Given the description of an element on the screen output the (x, y) to click on. 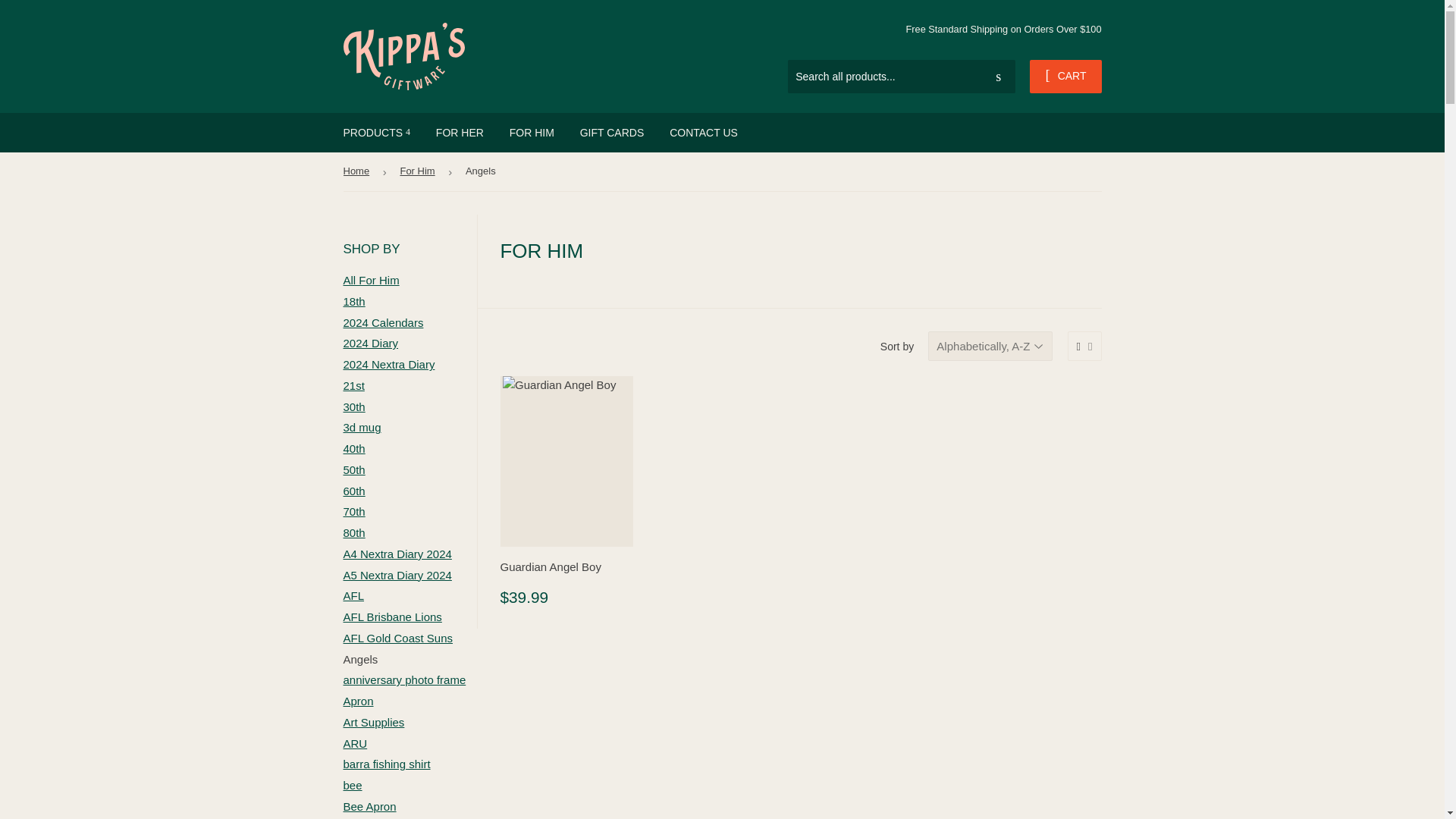
Show products matching tag 80th (353, 532)
Show products matching tag 30th (353, 406)
Show products matching tag 18th (353, 300)
Show products matching tag 60th (353, 490)
Show products matching tag A4 Nextra Diary 2024 (396, 553)
Show products matching tag 50th (353, 469)
Show products matching tag AFL Gold Coast Suns (397, 637)
CART (1064, 76)
Show products matching tag AFL (353, 594)
Show products matching tag A5 Nextra Diary 2024 (396, 574)
Show products matching tag 2024 Calendars (382, 322)
PRODUCTS (376, 132)
Show products matching tag 40th (353, 448)
Show products matching tag 2024 Nextra Diary (387, 364)
Show products matching tag 2024 Diary (369, 342)
